Given the description of an element on the screen output the (x, y) to click on. 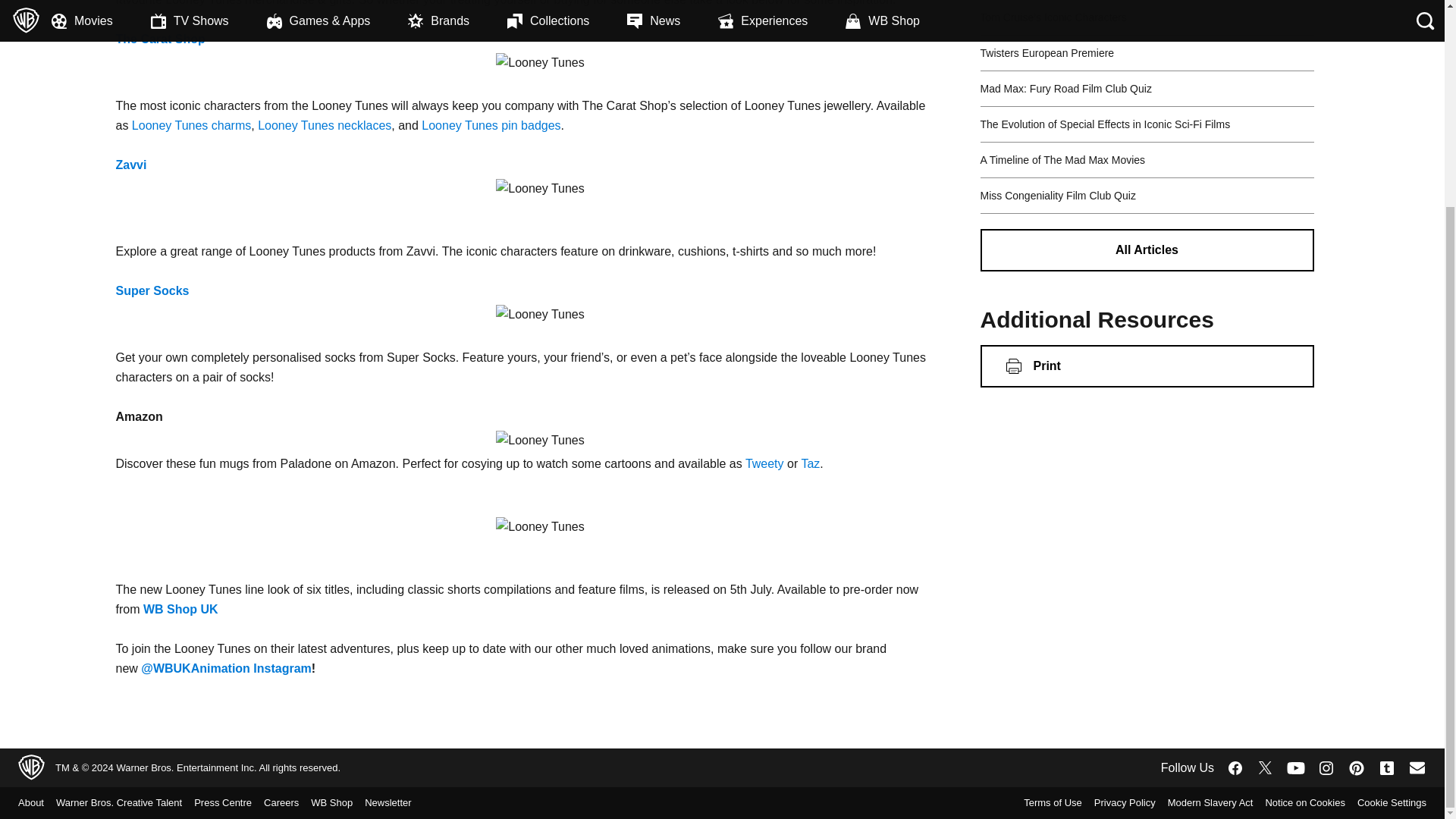
Looney Tunes (540, 440)
All Articles (1146, 250)
Miss Congeniality Film Club Quiz (1057, 195)
A Timeline of The Mad Max Movies (1061, 159)
Looney Tunes charms (191, 124)
Mad Max: Fury Road Film Club Quiz (1065, 88)
Twisters European Premiere (1046, 51)
All Articles (1146, 250)
Print (1146, 365)
Super Socks (152, 290)
